Given the description of an element on the screen output the (x, y) to click on. 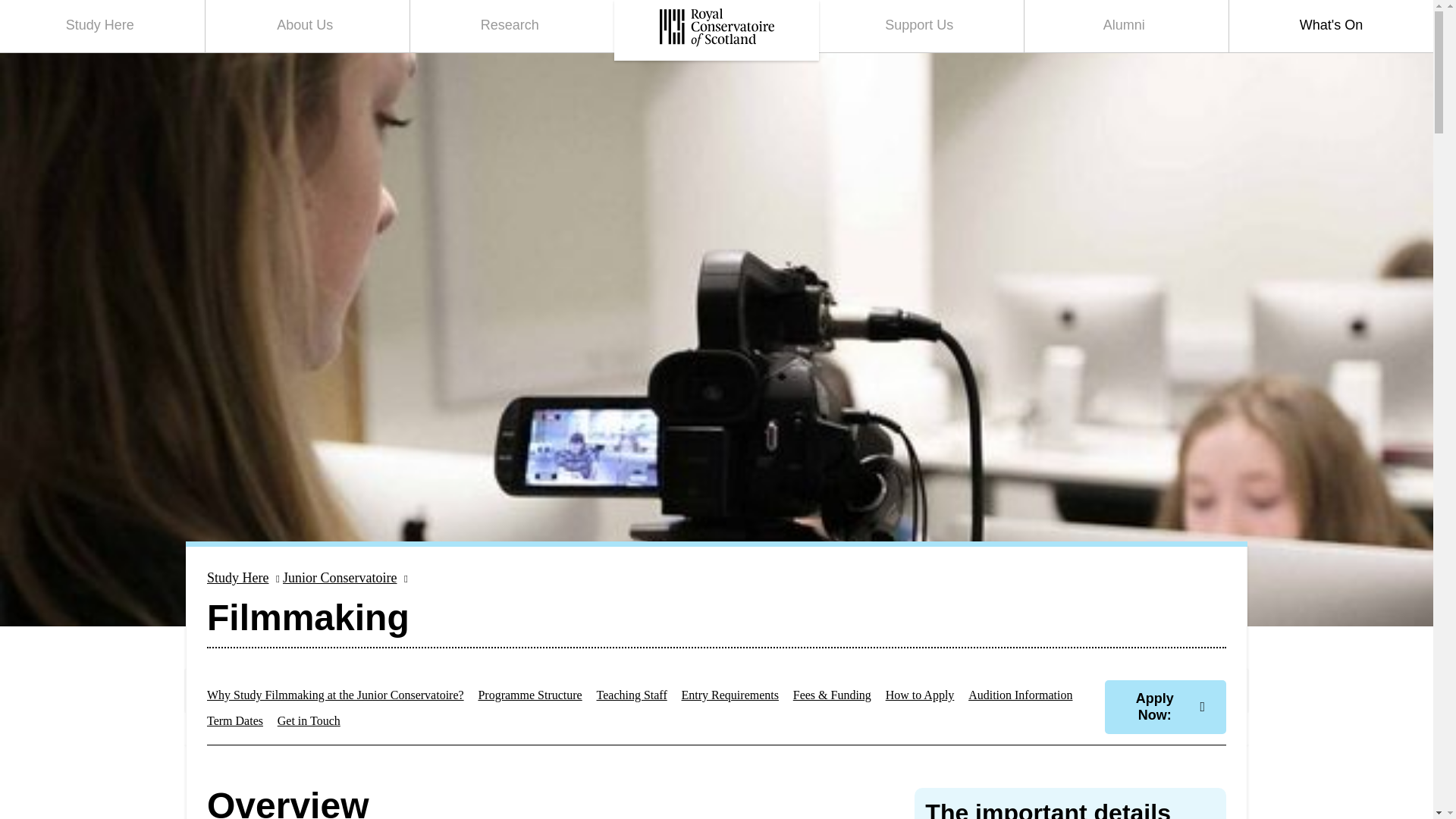
Royal Conservatoire of Scotland (716, 30)
Royal Conservatoire of Scotland (716, 27)
